Given the description of an element on the screen output the (x, y) to click on. 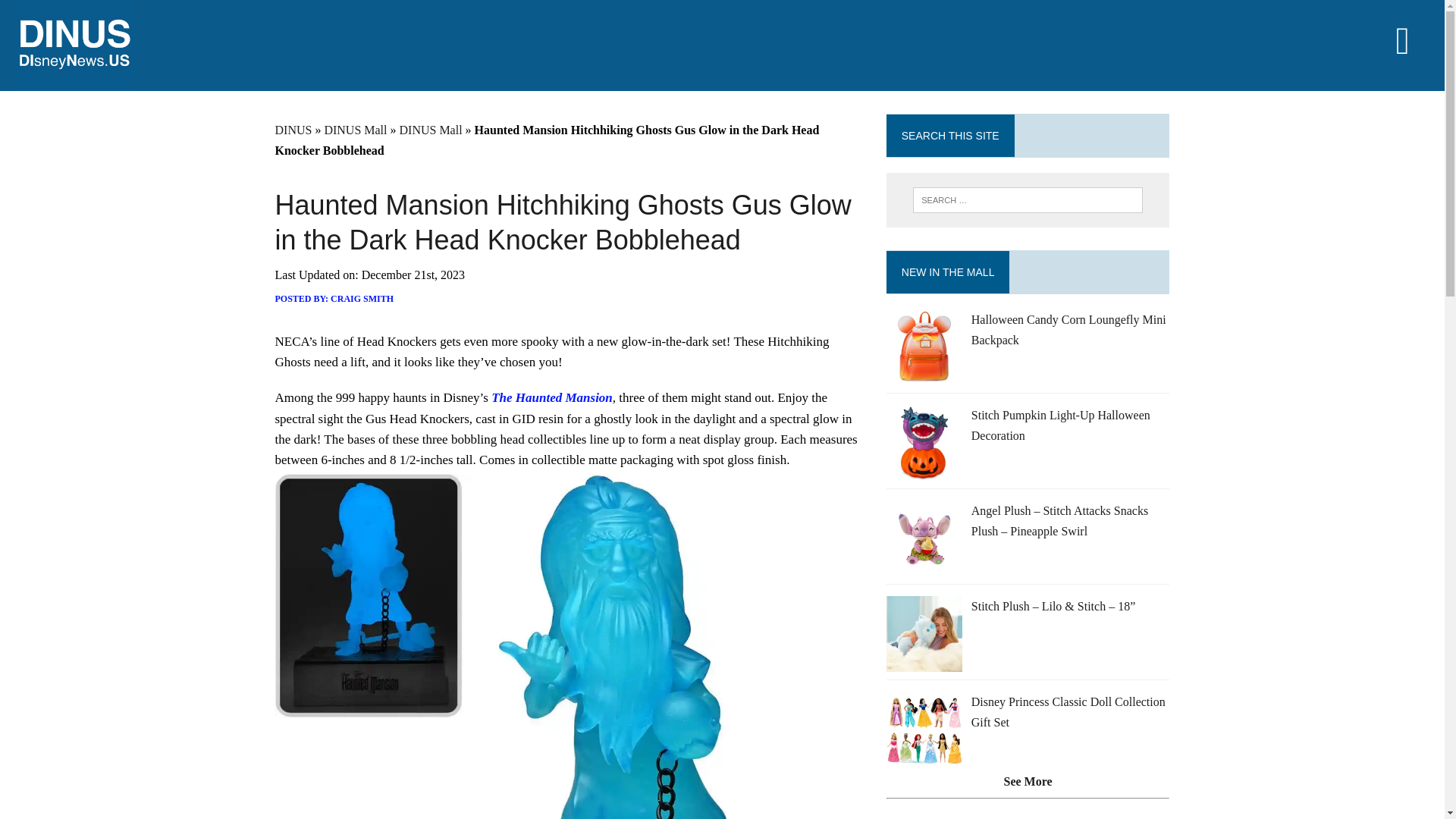
NEW IN THE MALL (947, 272)
Search (75, 14)
Halloween Candy Corn Loungefly Mini Backpack (1068, 329)
DINUS Mall (429, 129)
Stitch Pumpkin Light-Up Halloween Decoration (1060, 425)
New in the Mall (947, 272)
DINUS Mall (355, 129)
DINUS (293, 129)
The Haunted Mansion (552, 397)
